Given the description of an element on the screen output the (x, y) to click on. 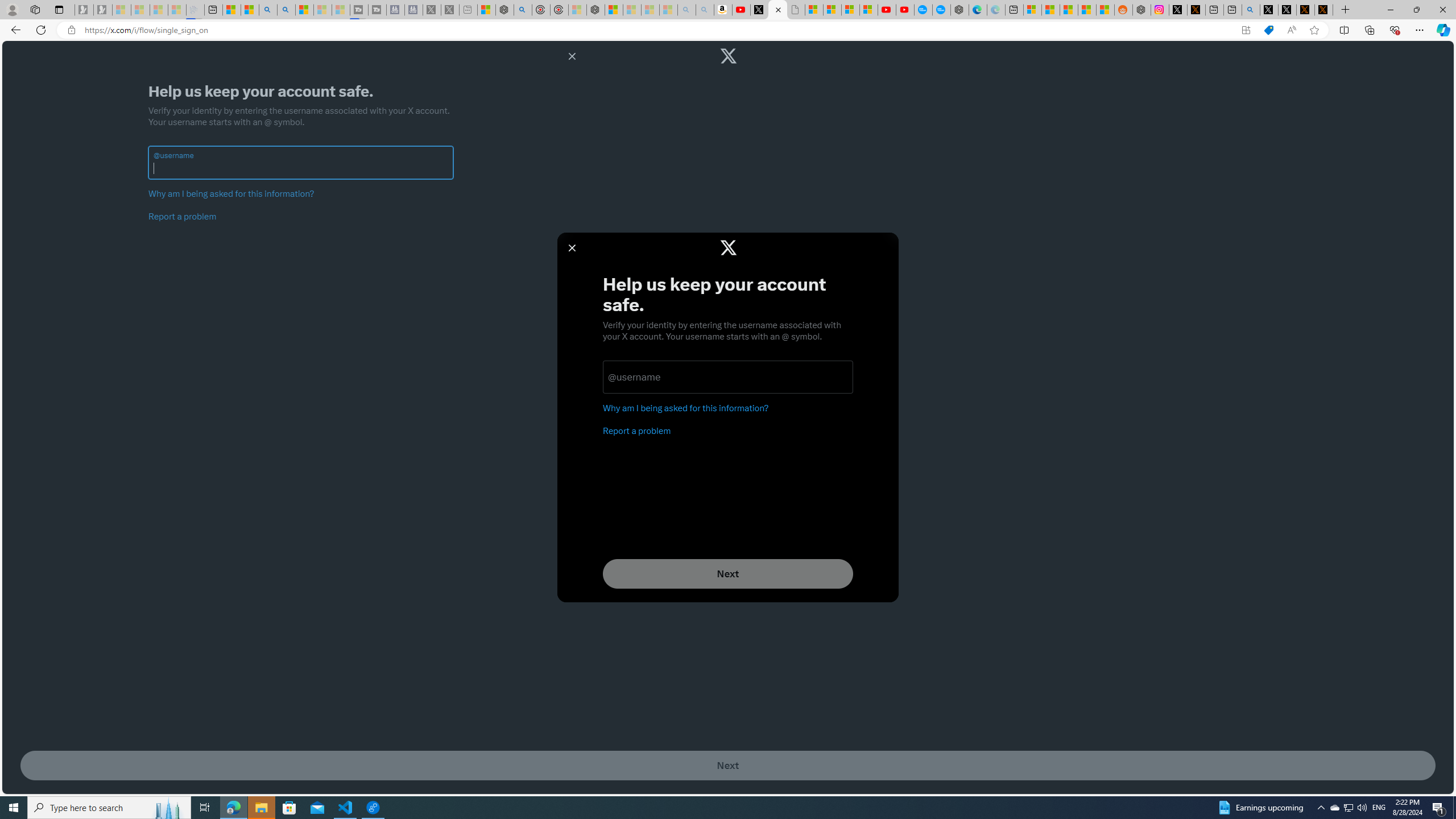
Log in to X / X (1178, 9)
App available. Install X (1245, 29)
Gloom - YouTube (887, 9)
Amazon Echo Dot PNG - Search Images - Sleeping (705, 9)
